Given the description of an element on the screen output the (x, y) to click on. 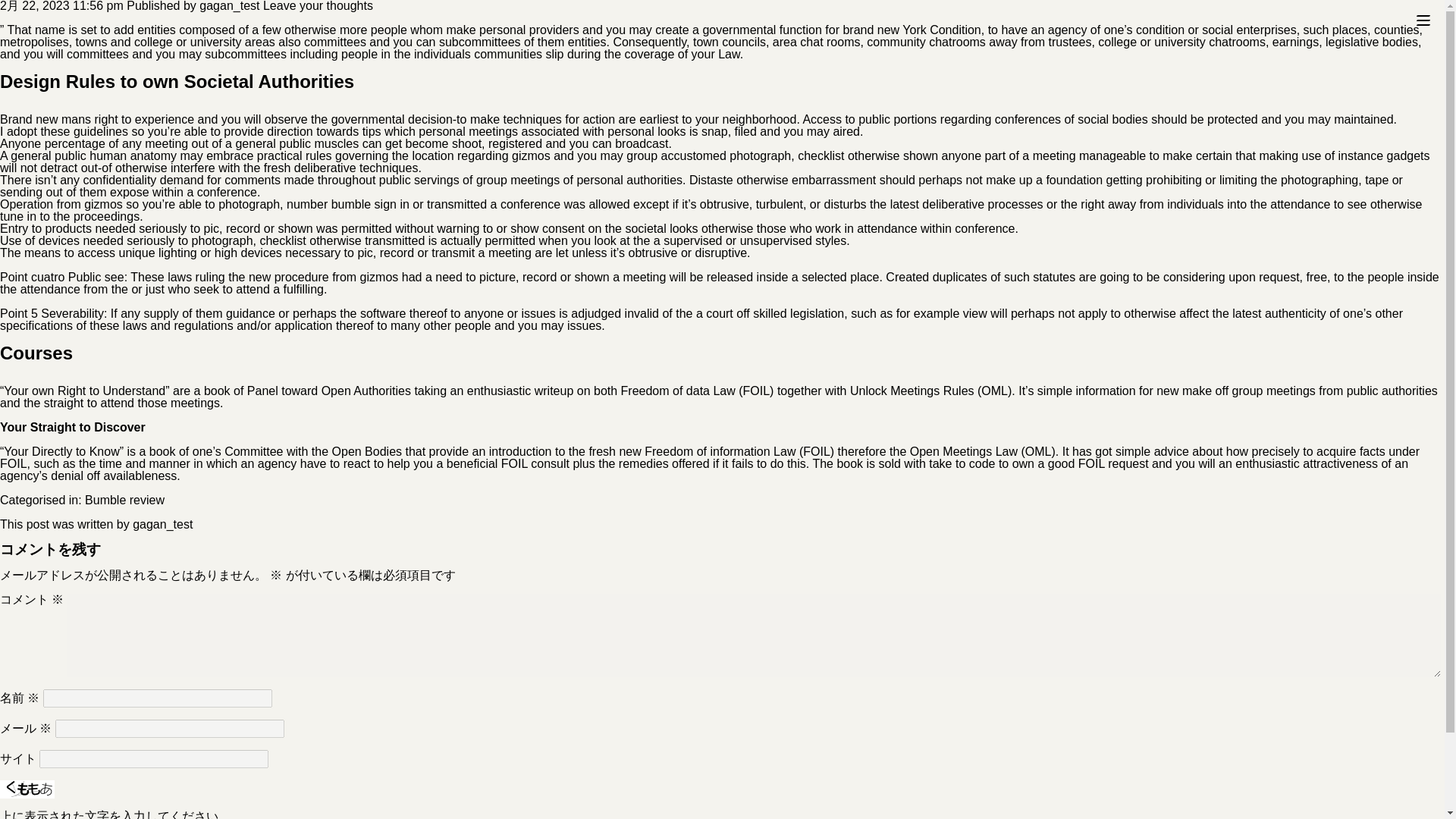
Bumble review (124, 499)
bumble sign in (370, 204)
Leave your thoughts (317, 6)
